Given the description of an element on the screen output the (x, y) to click on. 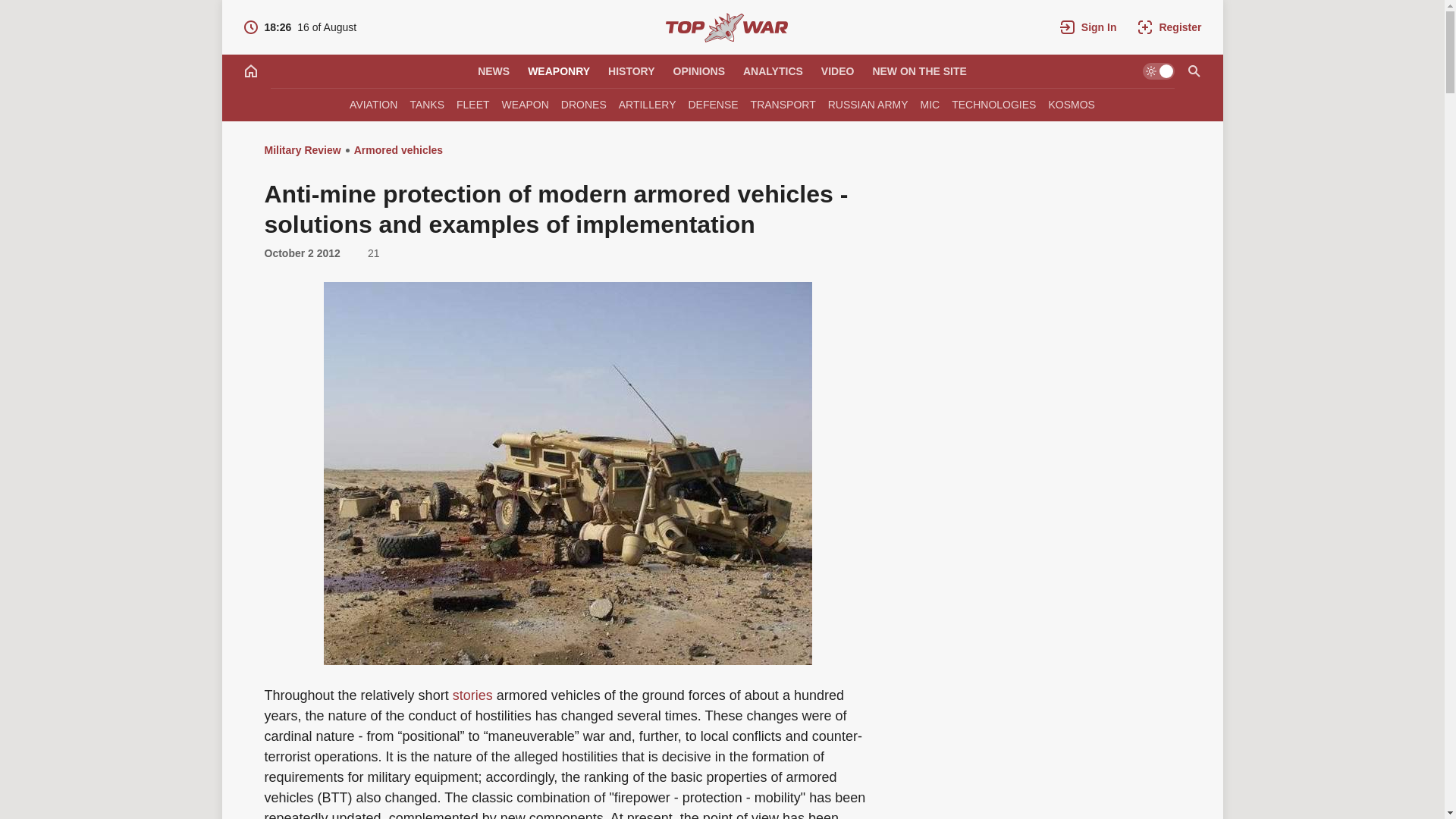
HISTORY (630, 70)
WEAPONRY (299, 27)
OPINIONS (558, 70)
NEWS (698, 70)
Register (493, 70)
story (1168, 27)
VIDEO (472, 694)
